Given the description of an element on the screen output the (x, y) to click on. 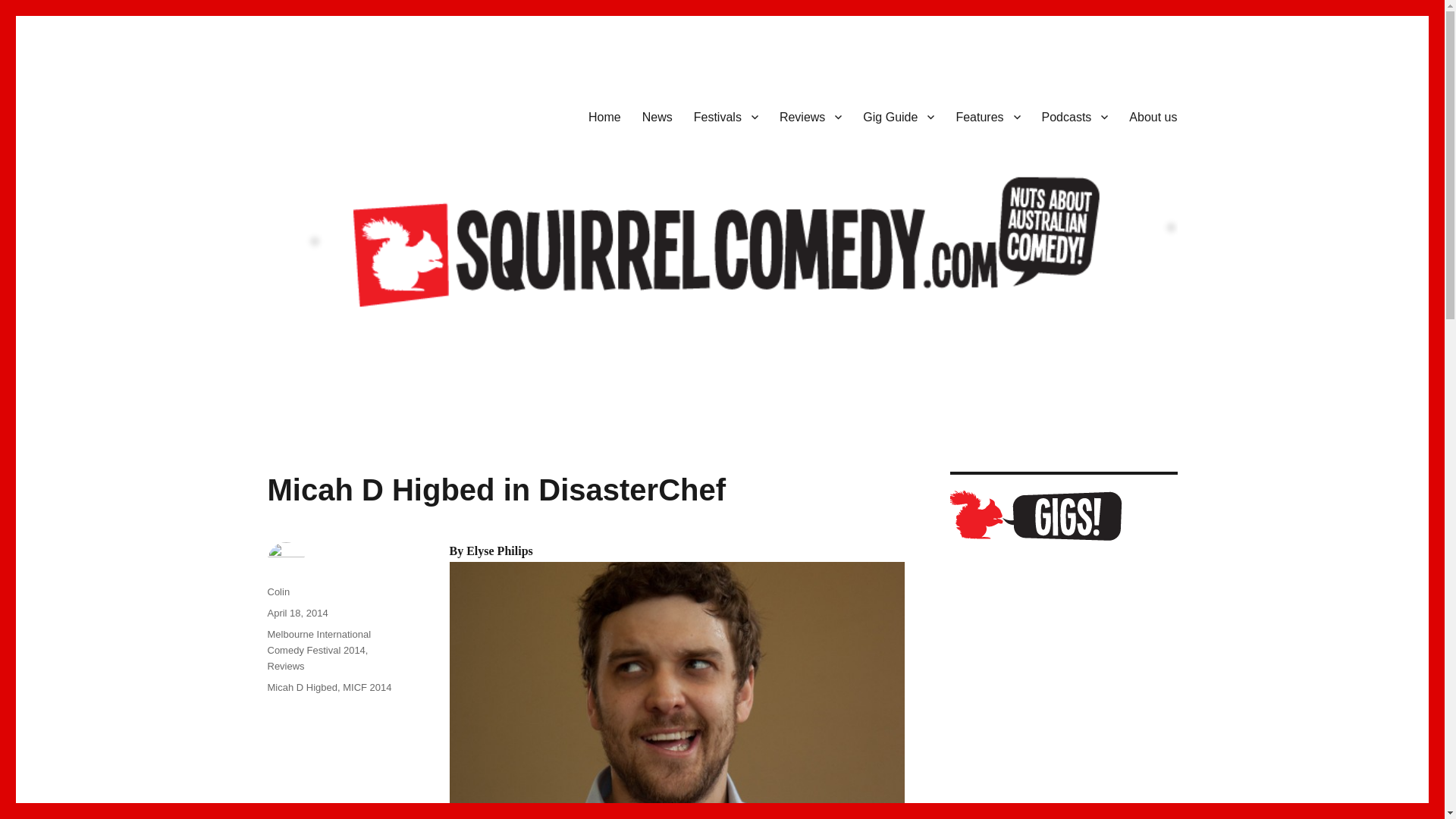
About us (1153, 116)
Features (987, 116)
Squirrel Comedy (351, 114)
News (656, 116)
Reviews (809, 116)
Gig Guide (897, 116)
Festivals (725, 116)
Podcasts (1074, 116)
Micah D Higbed (676, 689)
Home (604, 116)
